Given the description of an element on the screen output the (x, y) to click on. 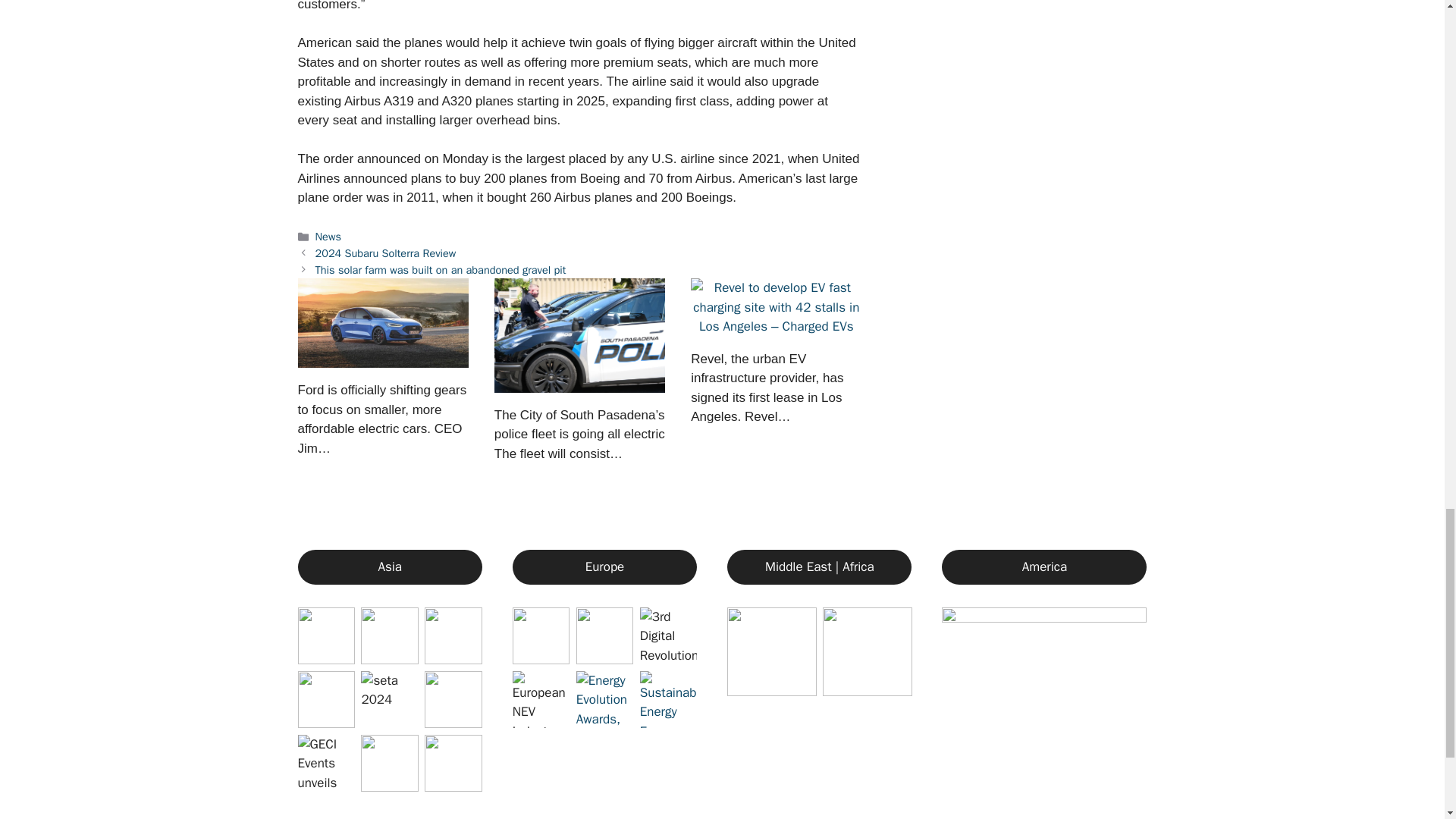
First all-electric police fleet coming to California (580, 382)
First all-electric police fleet coming to California (580, 335)
